Given the description of an element on the screen output the (x, y) to click on. 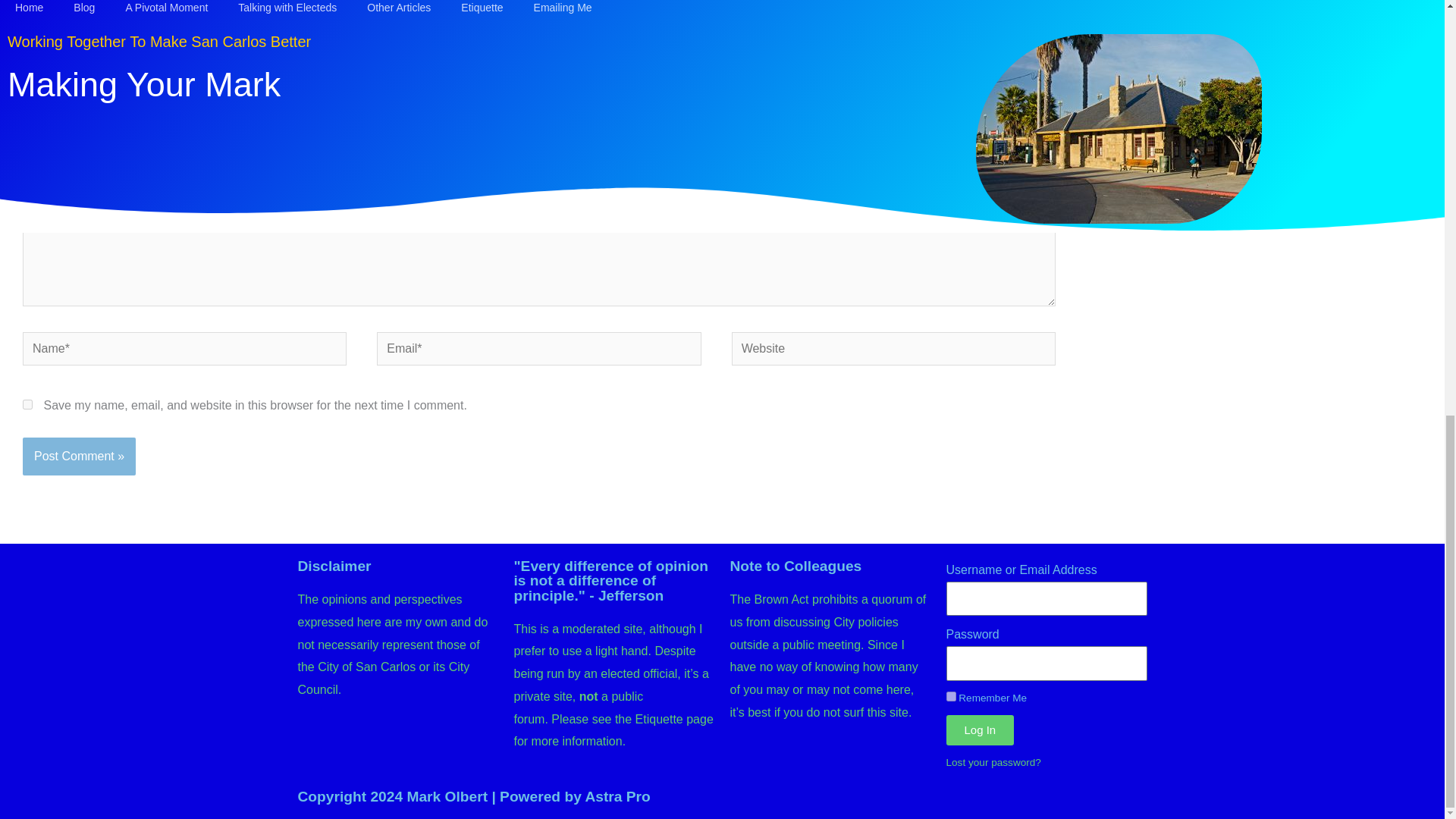
yes (27, 404)
forever (951, 696)
